Given the description of an element on the screen output the (x, y) to click on. 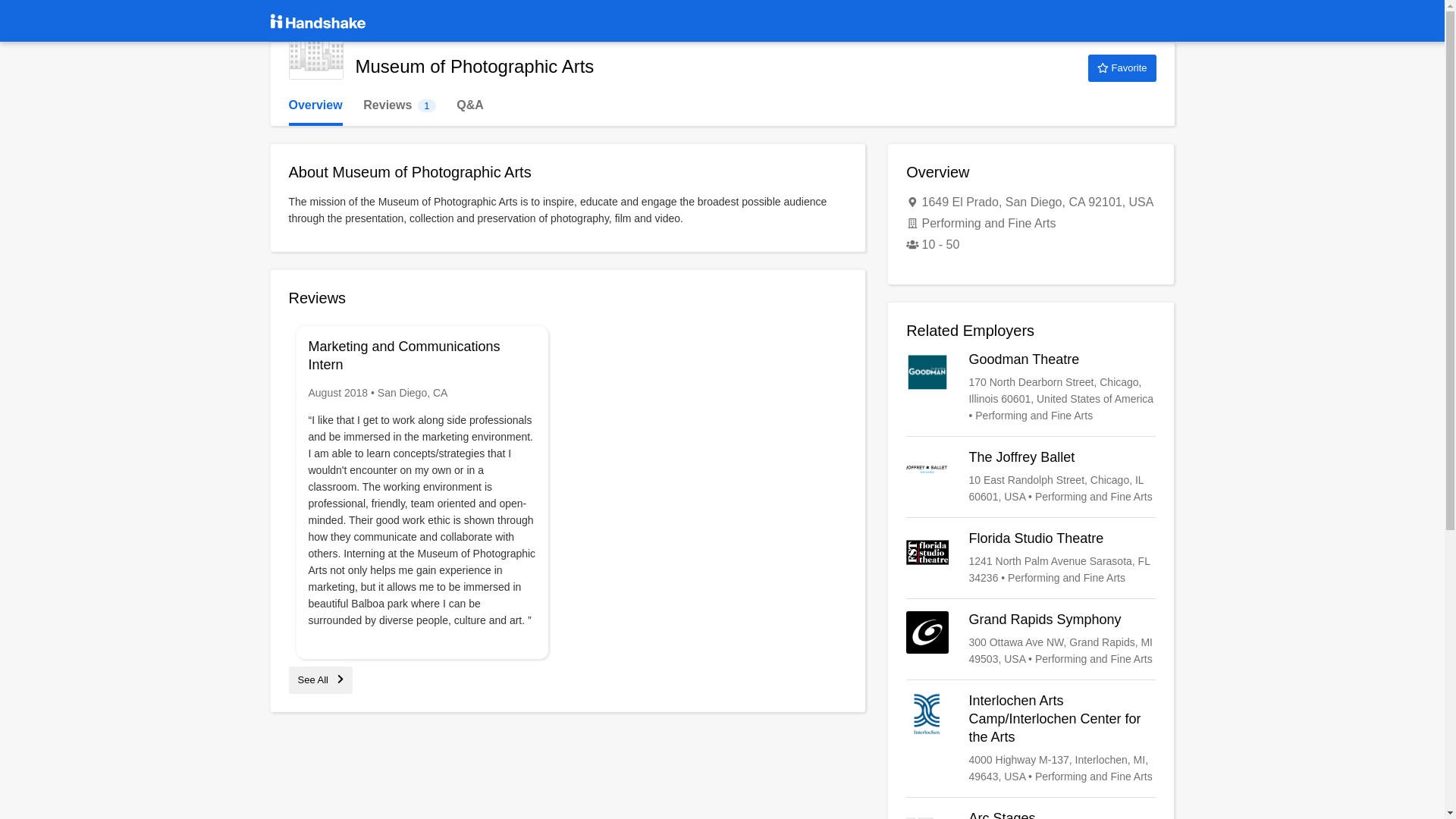
Arc Stages (1030, 814)
Goodman Theatre (398, 105)
Museum of Photographic Arts (1030, 387)
Overview (315, 52)
Favorite (315, 105)
See All (1121, 67)
Grand Rapids Symphony (320, 679)
The Joffrey Ballet (1030, 638)
Florida Studio Theatre (1030, 476)
